Given the description of an element on the screen output the (x, y) to click on. 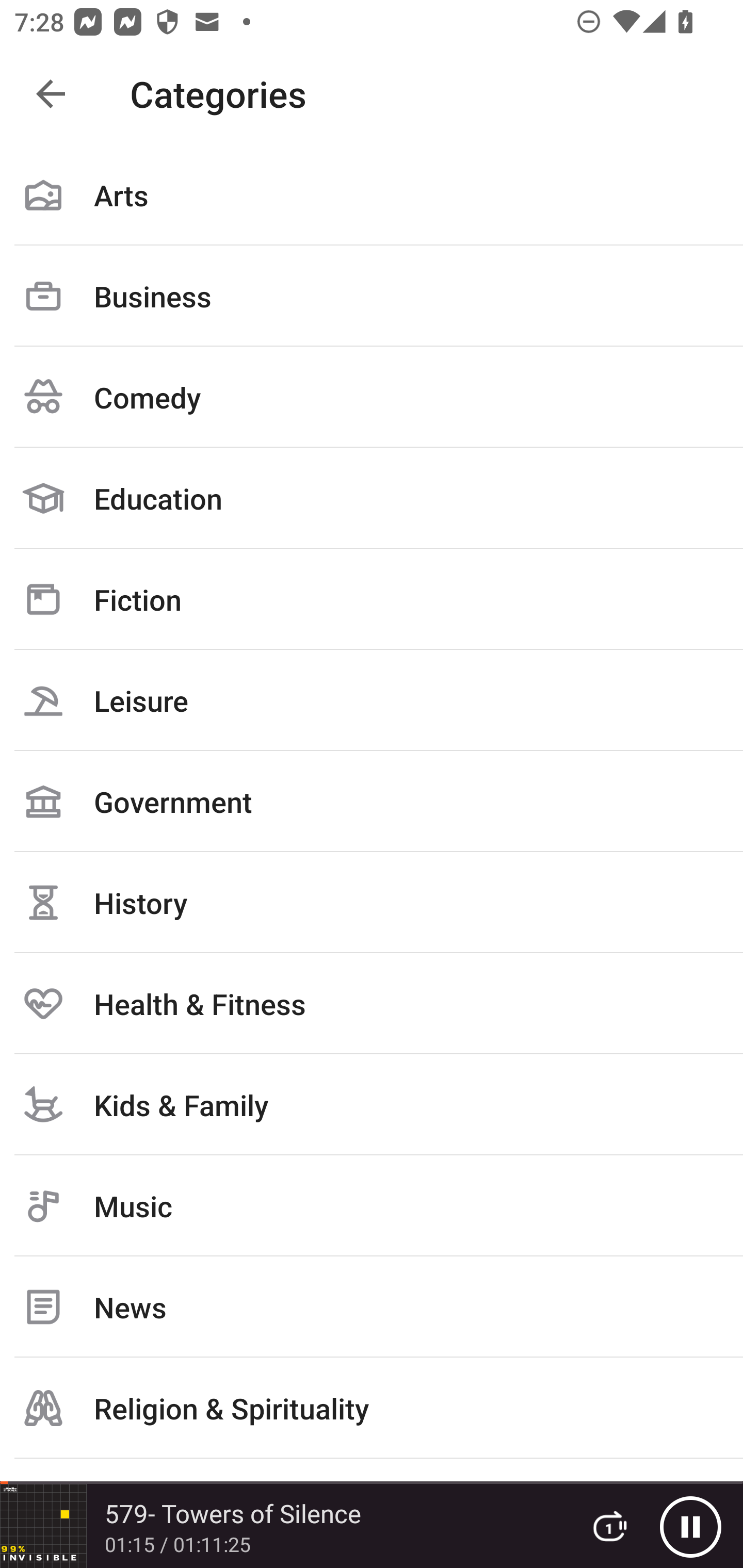
Navigate up (50, 93)
Arts (371, 195)
Business (371, 296)
Comedy (371, 397)
Education (371, 498)
Fiction (371, 598)
Leisure (371, 700)
Government (371, 801)
History (371, 902)
Health & Fitness (371, 1003)
Kids & Family (371, 1104)
Music (371, 1205)
News (371, 1306)
Religion & Spirituality (371, 1407)
579- Towers of Silence 01:15 / 01:11:25 (283, 1525)
Pause (690, 1526)
